Given the description of an element on the screen output the (x, y) to click on. 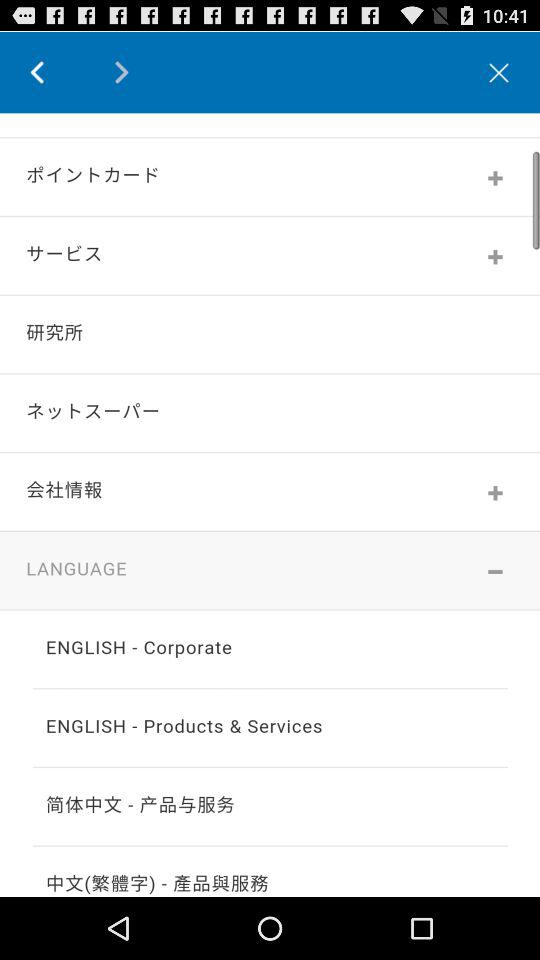
screen page (270, 504)
